Given the description of an element on the screen output the (x, y) to click on. 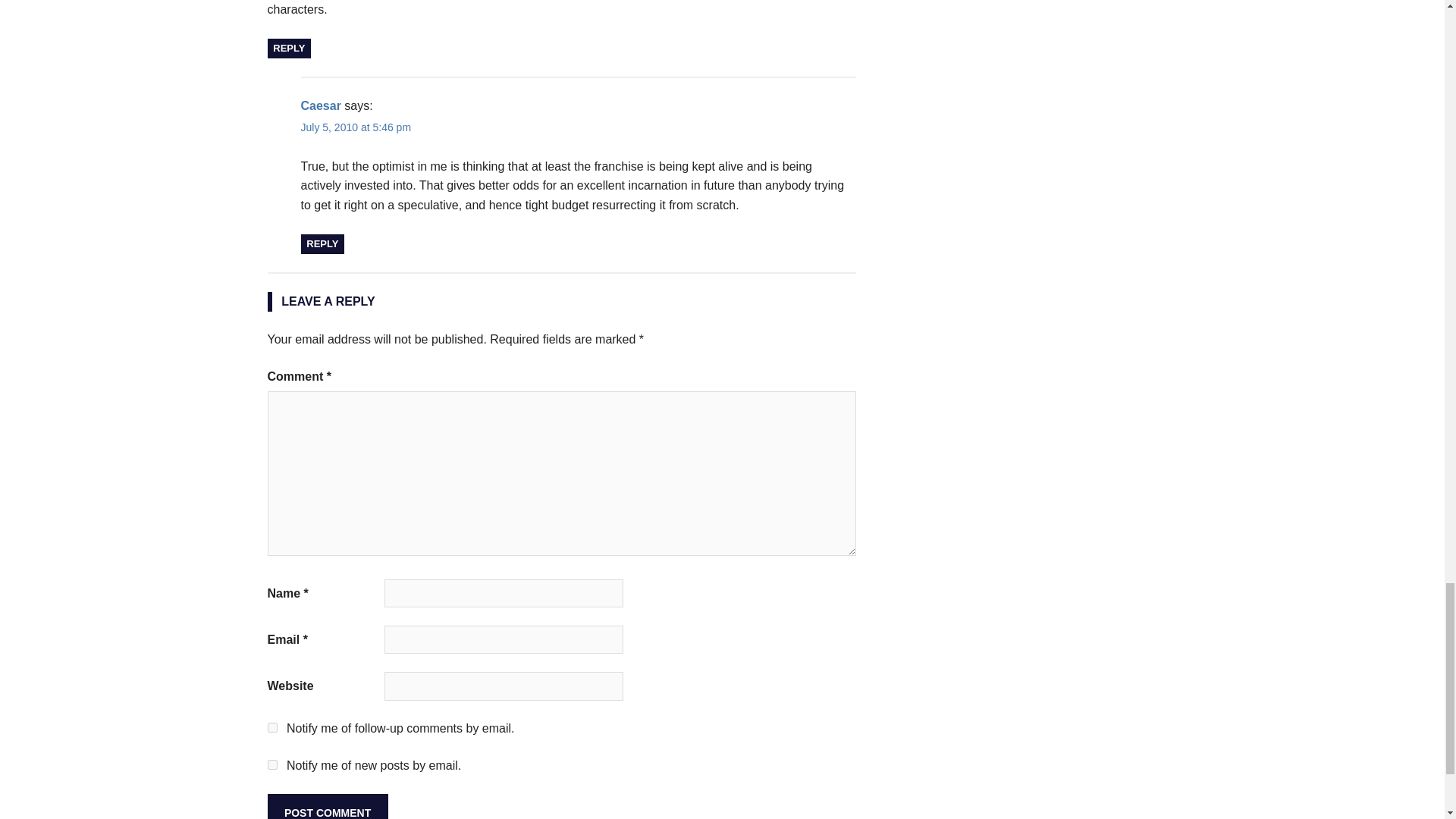
Caesar (319, 105)
July 5, 2010 at 5:46 pm (354, 127)
subscribe (271, 764)
subscribe (271, 727)
Post Comment (326, 806)
Post Comment (326, 806)
REPLY (288, 48)
REPLY (321, 243)
